Given the description of an element on the screen output the (x, y) to click on. 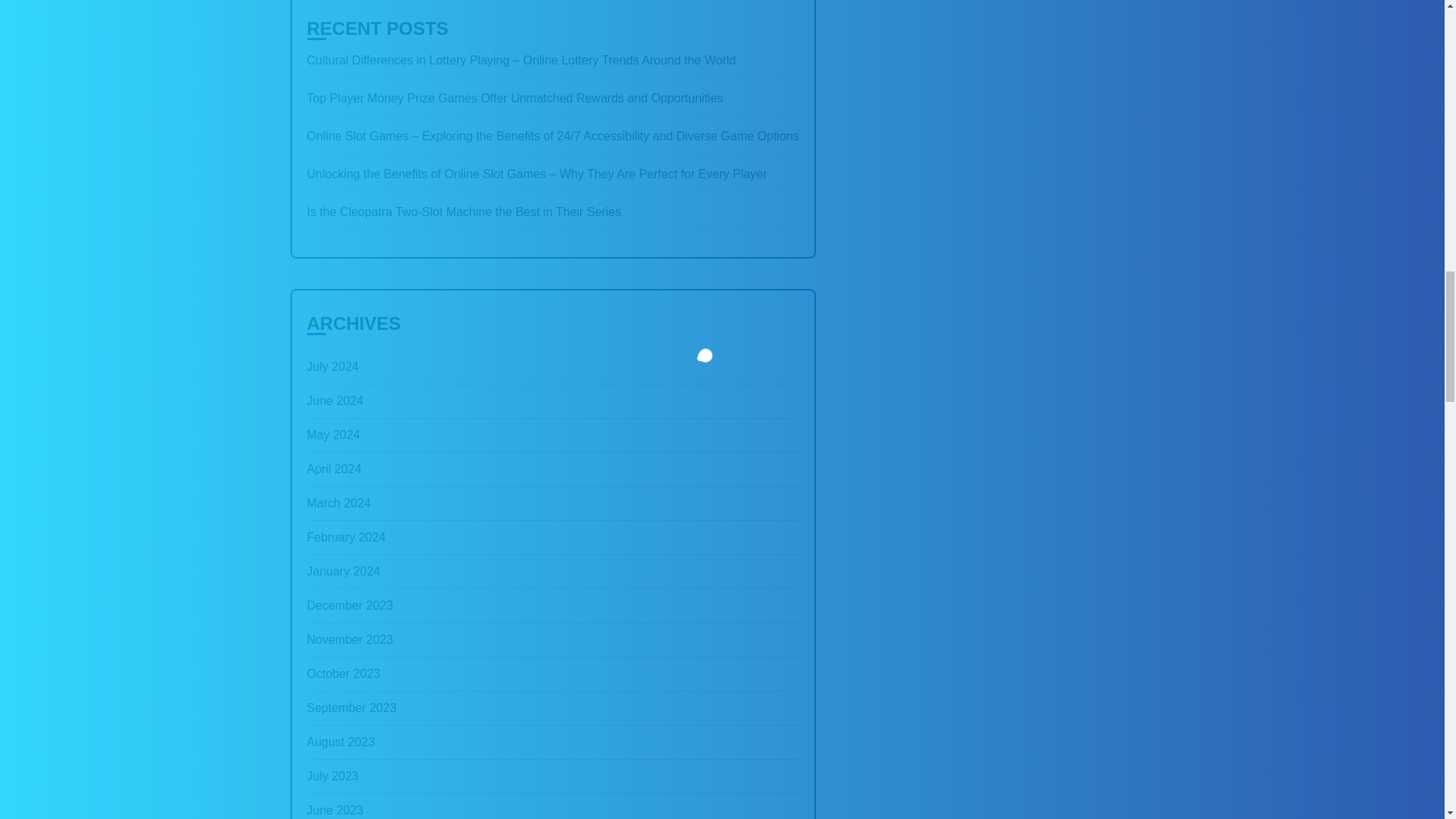
May 2024 (332, 435)
December 2023 (349, 605)
March 2024 (338, 503)
August 2023 (339, 742)
November 2023 (349, 639)
June 2023 (333, 806)
July 2023 (331, 776)
April 2024 (333, 469)
January 2024 (342, 571)
June 2024 (333, 400)
